Given the description of an element on the screen output the (x, y) to click on. 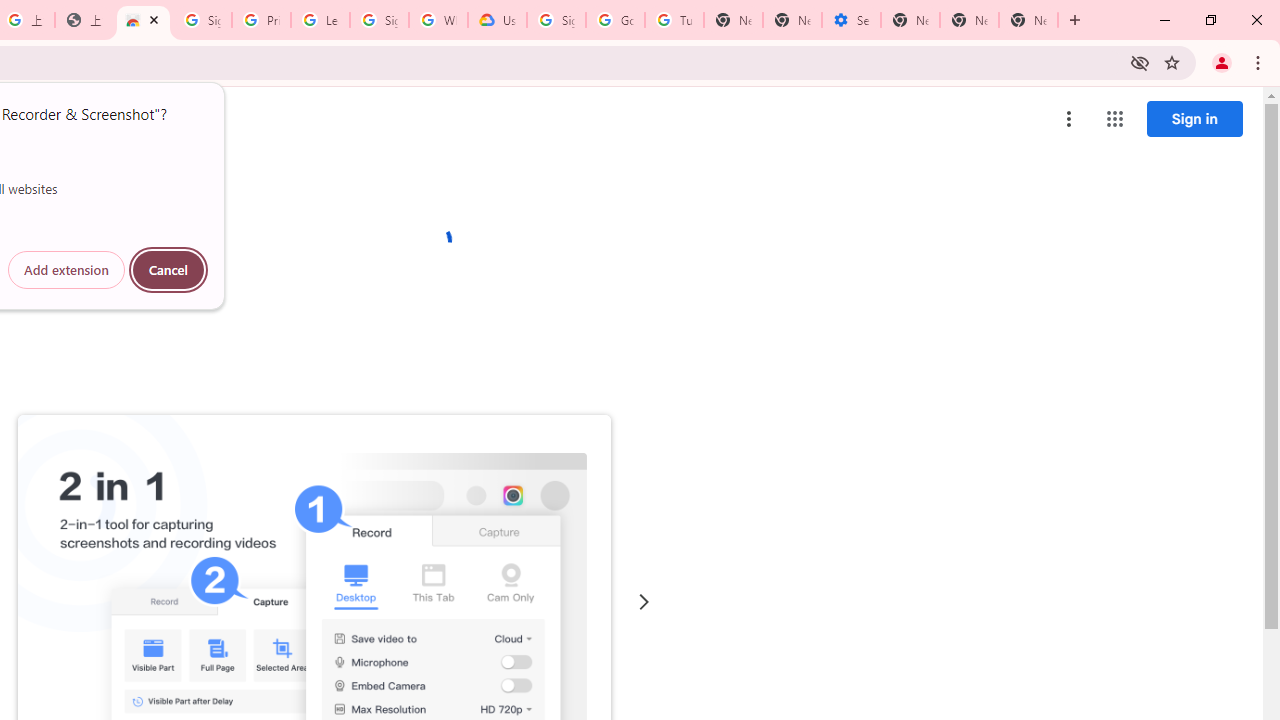
Settings - Addresses and more (850, 20)
Sign in - Google Accounts (379, 20)
Cancel (168, 269)
New Tab (909, 20)
Add extension (66, 269)
New Tab (1028, 20)
